Given the description of an element on the screen output the (x, y) to click on. 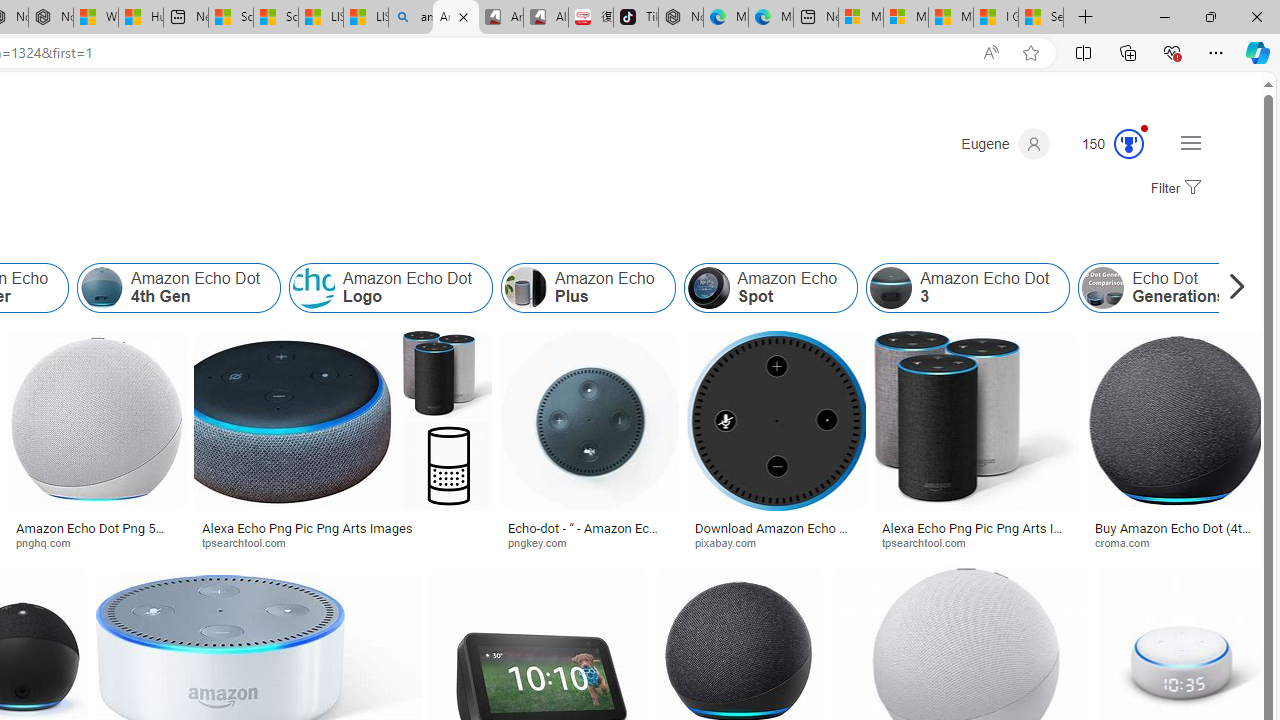
Class: medal-svg-animation (1129, 143)
Class: outer-circle-animation (1129, 143)
Alexa Echo Png Pic Png Arts Imagestpsearchtool.comSave (347, 444)
amazon - Search (410, 17)
Nordace - Best Sellers (680, 17)
All Cubot phones (545, 17)
Nordace - Summer Adventures 2024 (50, 17)
Amazon Echo Plus (525, 287)
Microsoft Rewards 147 (1105, 143)
Amazon Echo Dot Logo (314, 287)
